Given the description of an element on the screen output the (x, y) to click on. 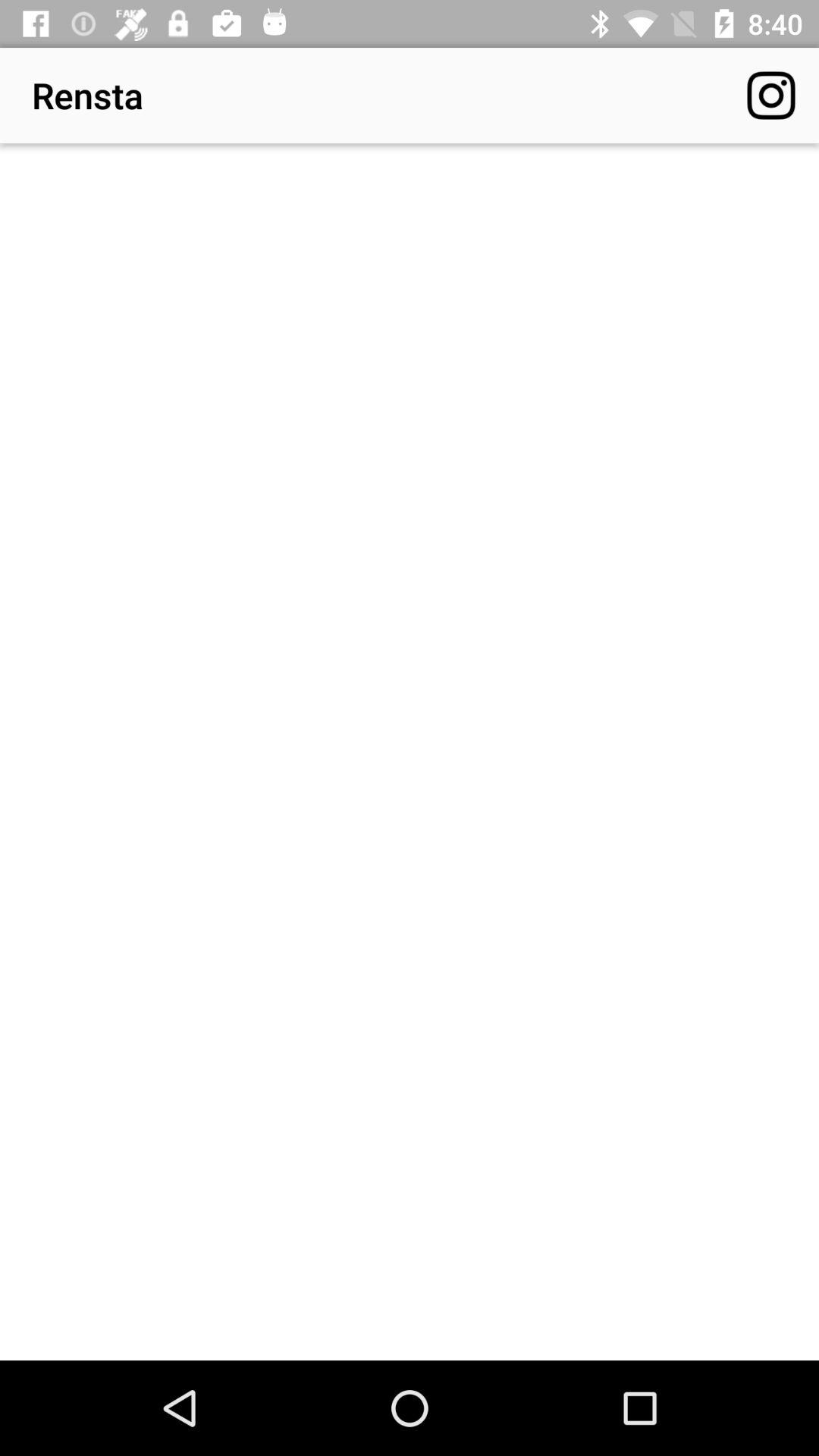
turn on the icon next to rensta icon (771, 95)
